Given the description of an element on the screen output the (x, y) to click on. 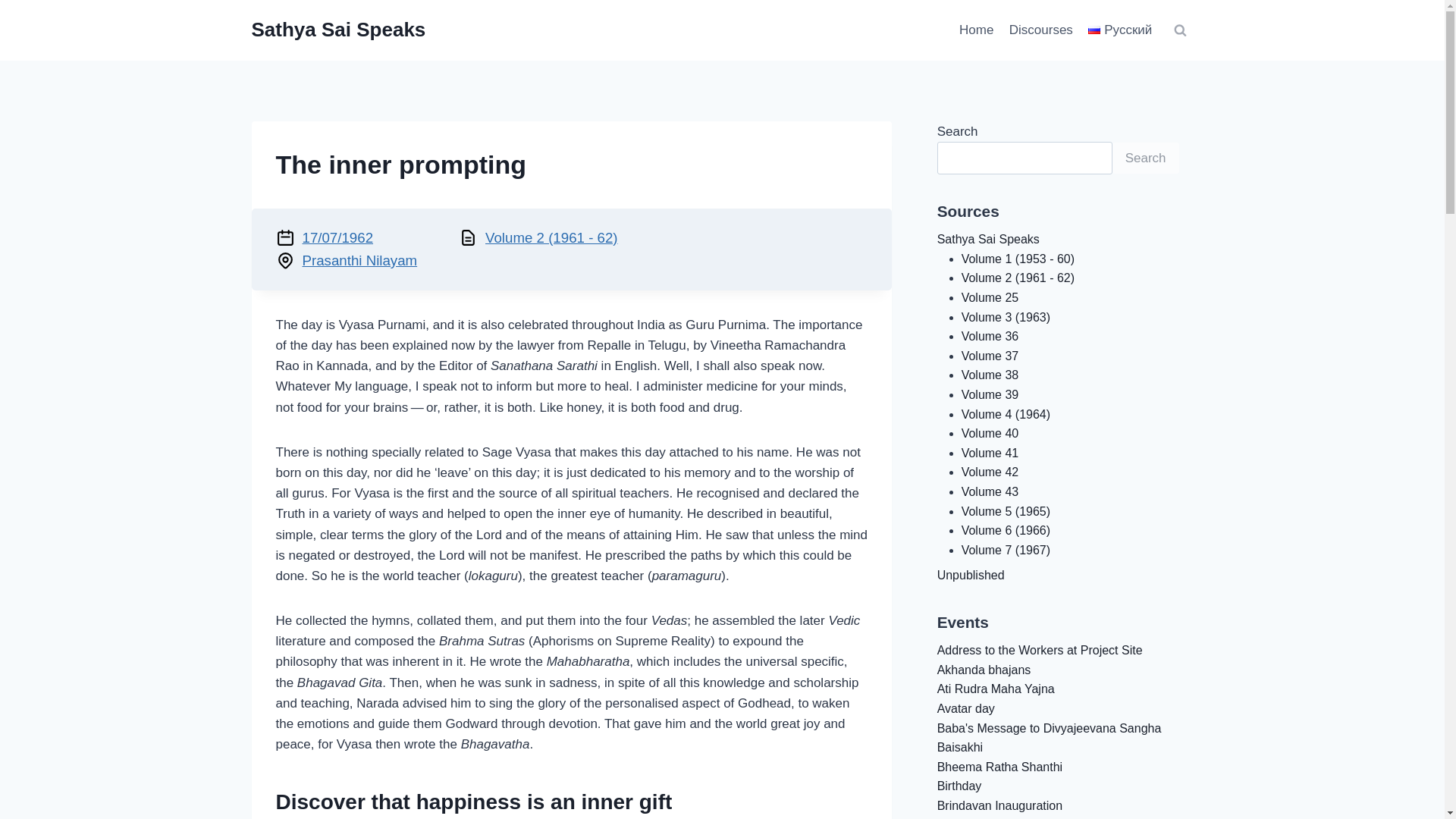
Baisakhi (959, 747)
Address to the Workers at Project Site (1039, 649)
Volume 41 (989, 452)
Ati Rudra Maha Yajna (995, 688)
Brindavan Inauguration (999, 805)
Prasanthi Nilayam (358, 260)
Bheema Ratha Shanthi (999, 766)
Birthday (959, 785)
Volume 43 (989, 491)
Volume 25 (989, 297)
Volume 37 (989, 355)
Volume 39 (989, 394)
Volume 36 (989, 336)
Akhanda bhajans (983, 669)
